Given the description of an element on the screen output the (x, y) to click on. 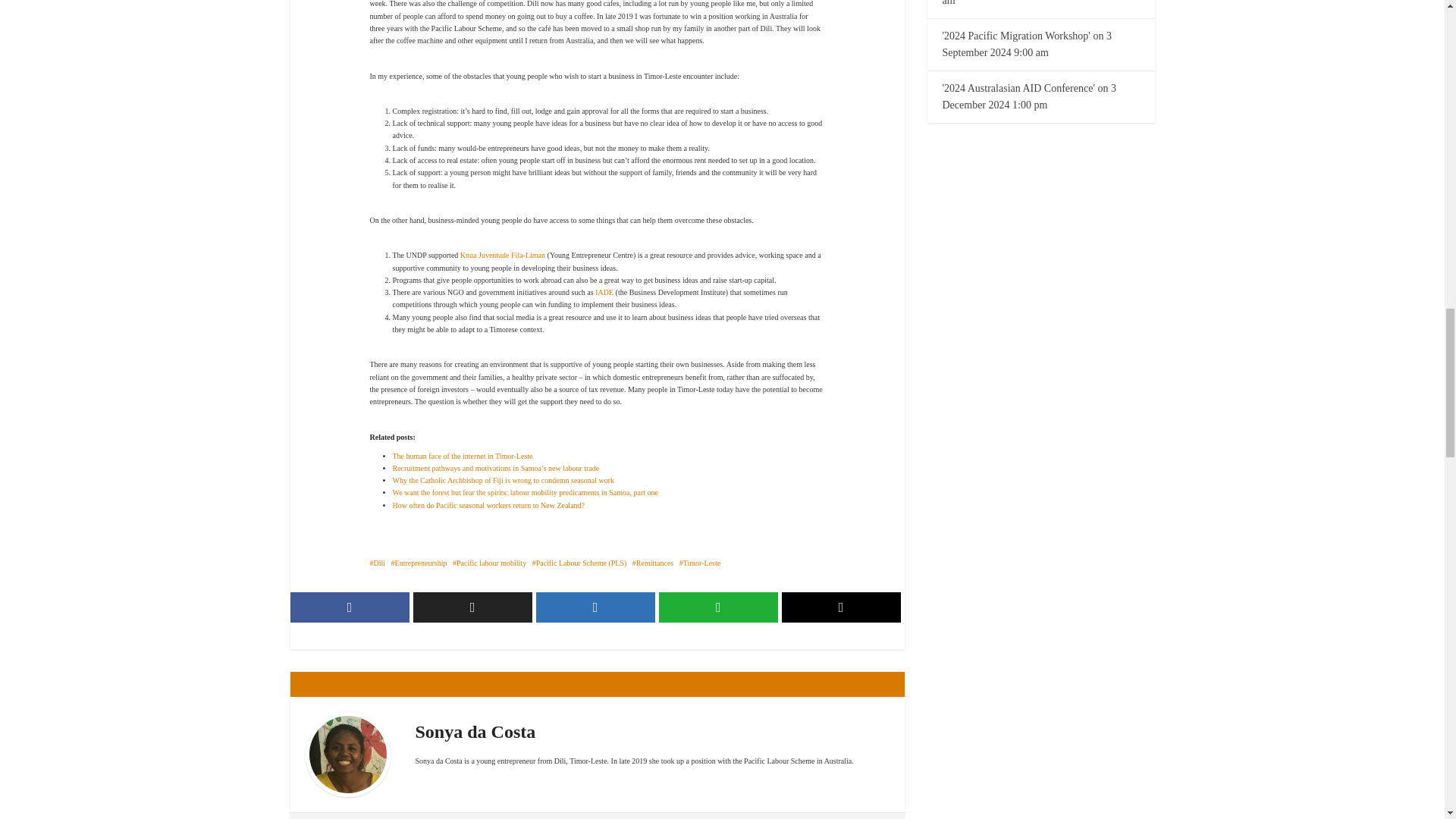
IADE (603, 292)
The human face of the internet in Timor-Leste (462, 456)
Knua Juventude Fila-Liman (502, 254)
